Given the description of an element on the screen output the (x, y) to click on. 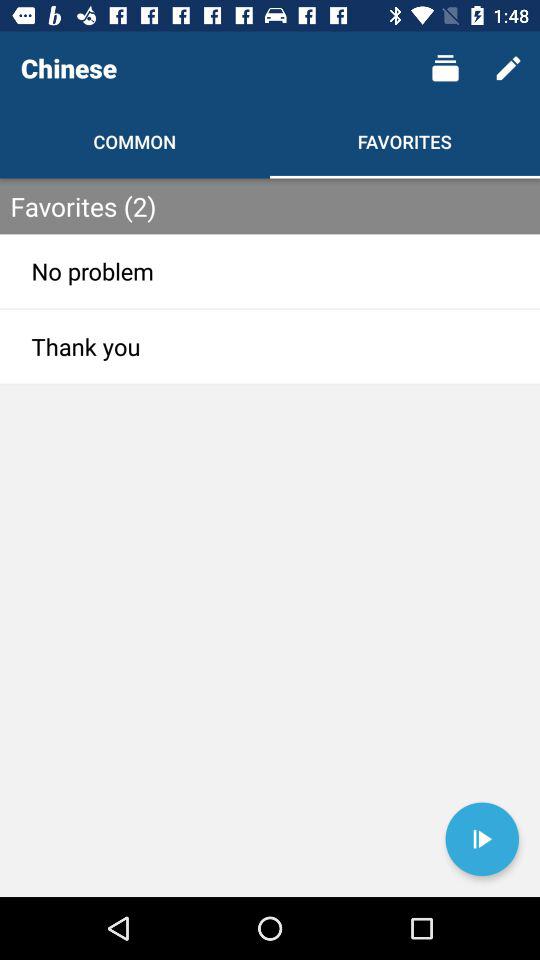
select the icon above favorites icon (444, 67)
